Given the description of an element on the screen output the (x, y) to click on. 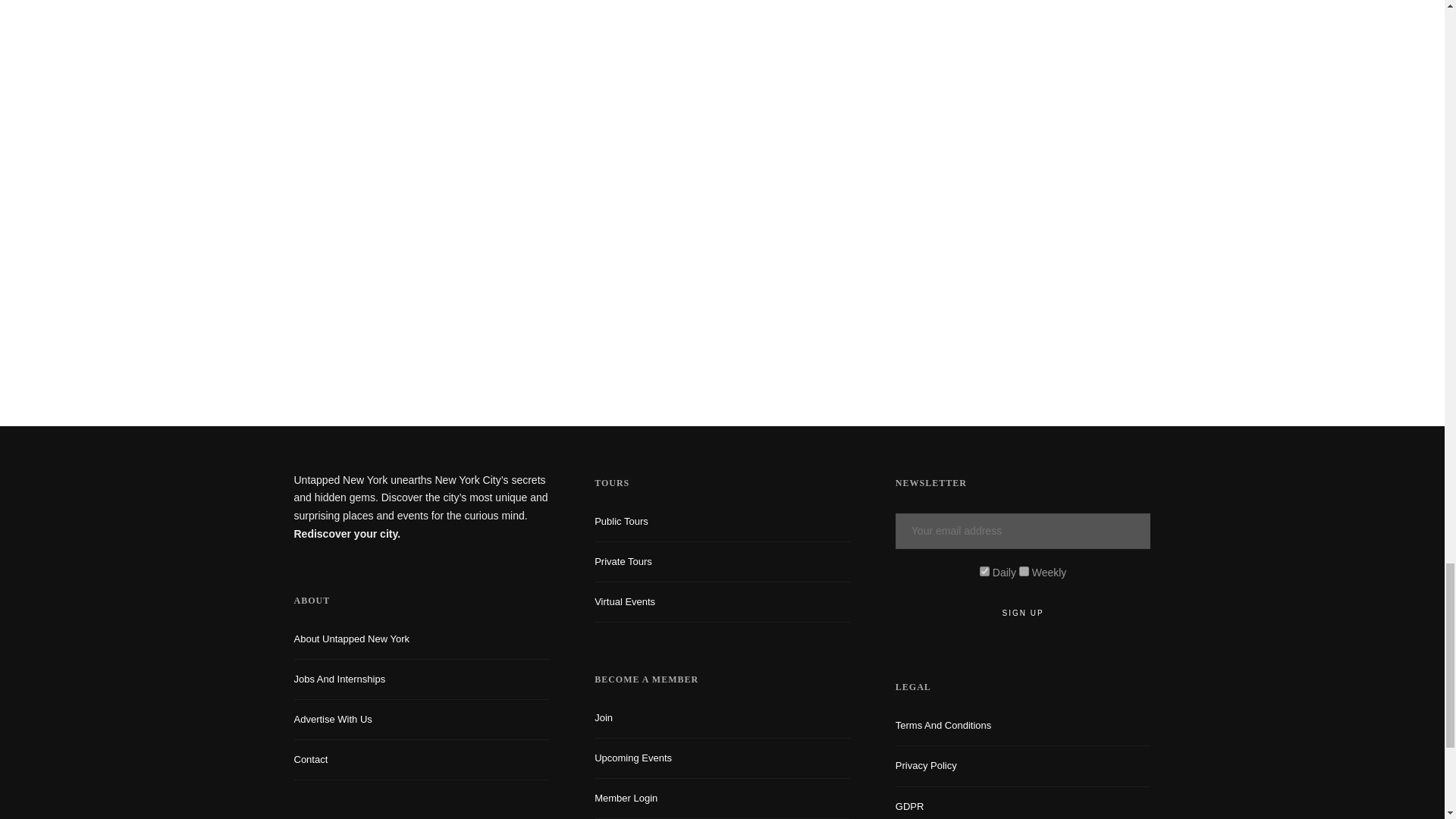
7cff6a70fd (1024, 571)
e99a09560c (984, 571)
Sign up (1023, 613)
